Given the description of an element on the screen output the (x, y) to click on. 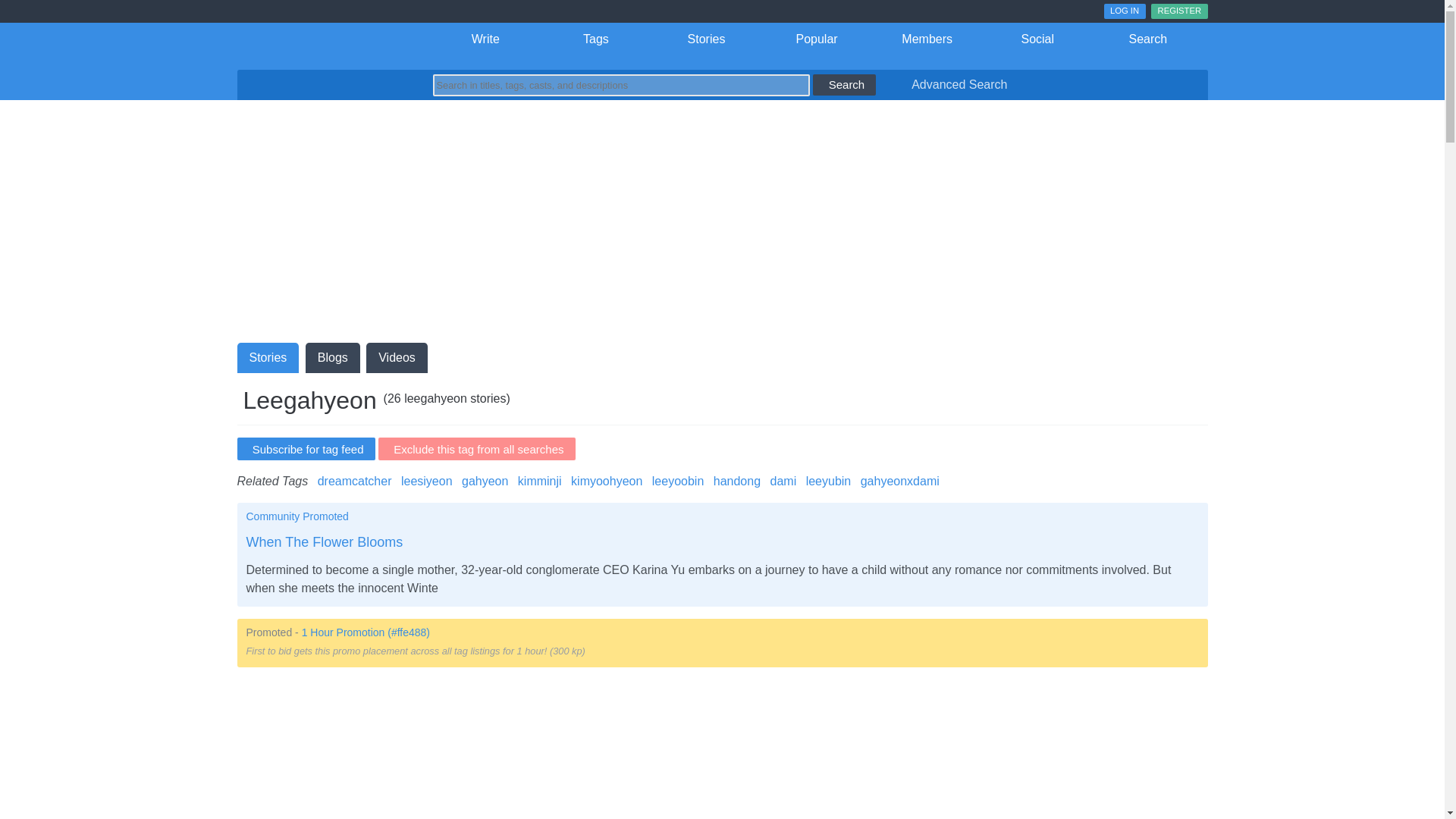
LOG IN (1124, 10)
Social (1037, 38)
Popular (816, 38)
Tags (595, 38)
Stories (705, 38)
Write (485, 38)
REGISTER (1179, 10)
Search (1148, 38)
Members (927, 38)
